Given the description of an element on the screen output the (x, y) to click on. 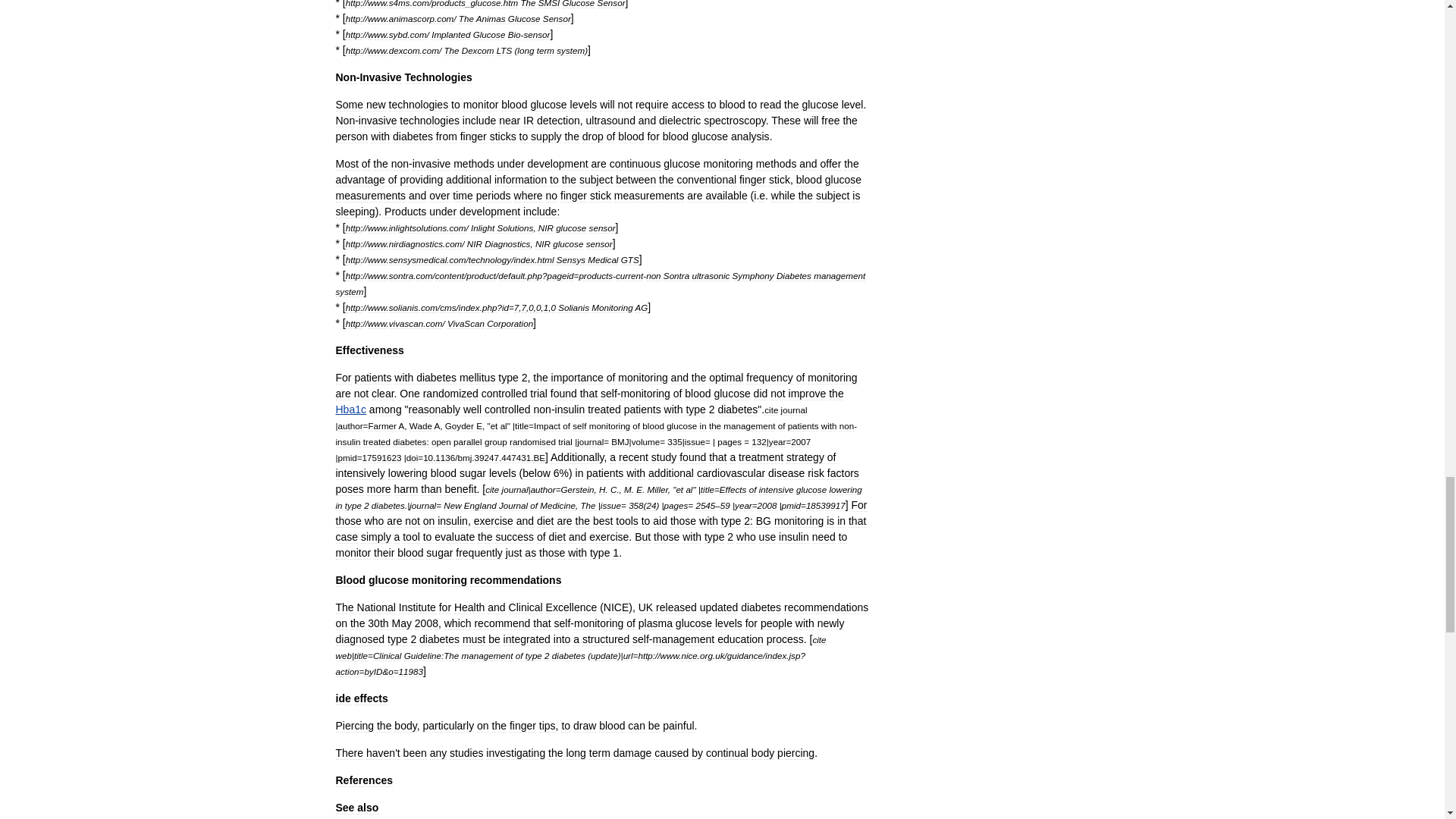
Hba1c (349, 409)
